Given the description of an element on the screen output the (x, y) to click on. 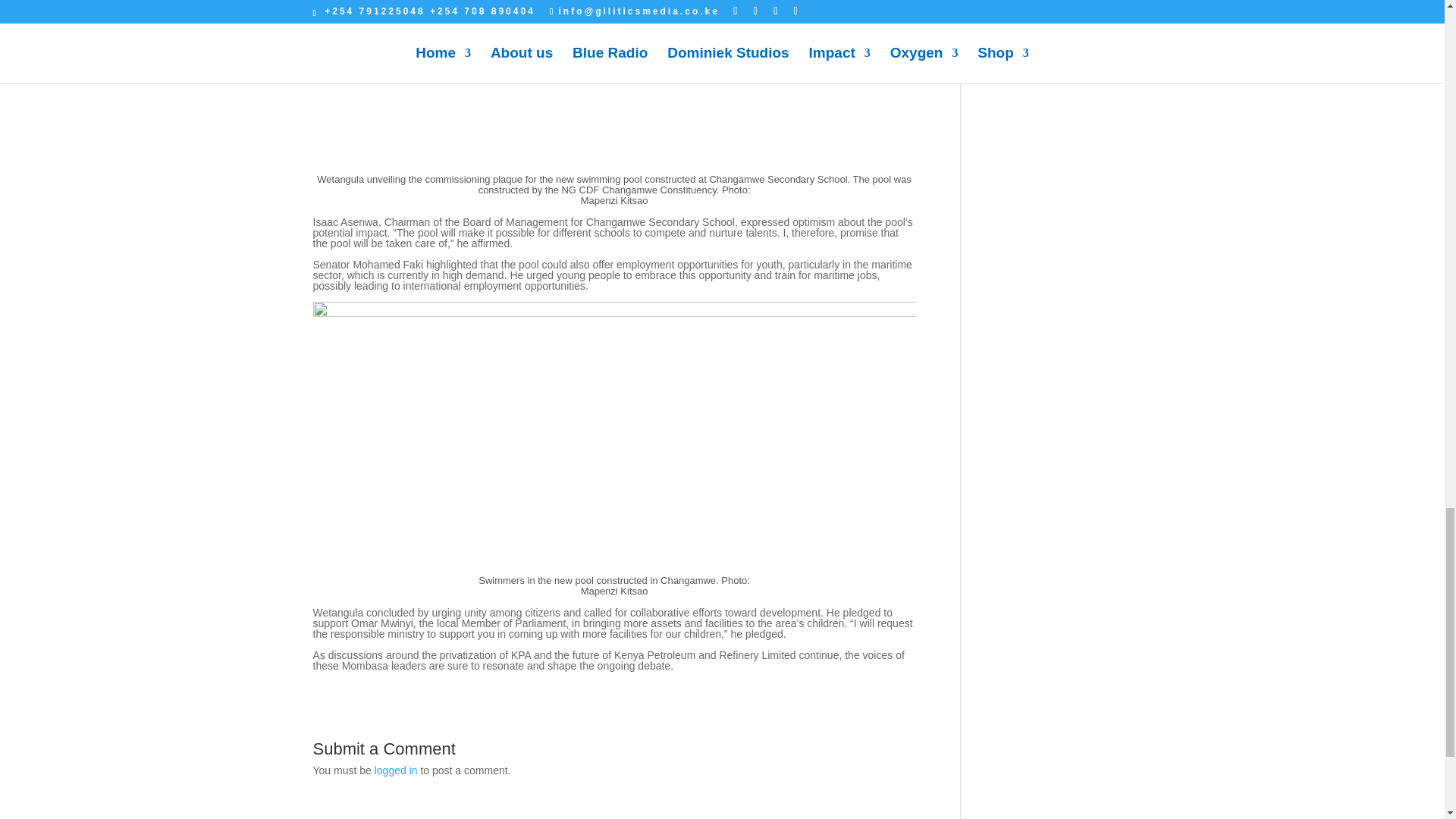
logged in (395, 770)
